Given the description of an element on the screen output the (x, y) to click on. 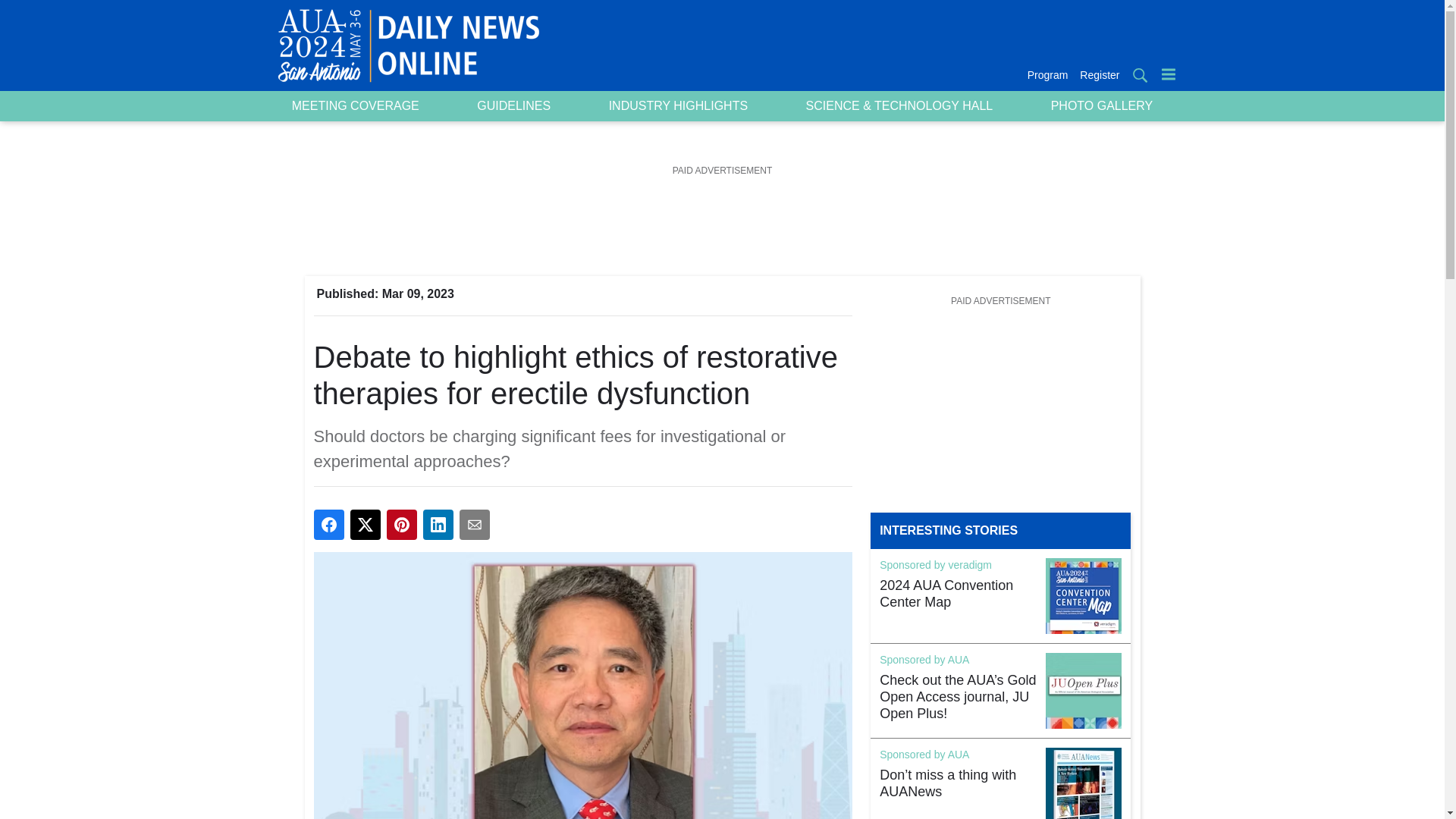
INDUSTRY HIGHLIGHTS (677, 106)
Share To email (474, 524)
Sponsored by veradigm (935, 565)
Register (1096, 75)
Share To pinterest (401, 524)
2024 AUA Convention Center Map (957, 594)
Search (1139, 74)
Share To twitter (365, 524)
MEETING COVERAGE (354, 106)
PHOTO GALLERY (1101, 106)
